Given the description of an element on the screen output the (x, y) to click on. 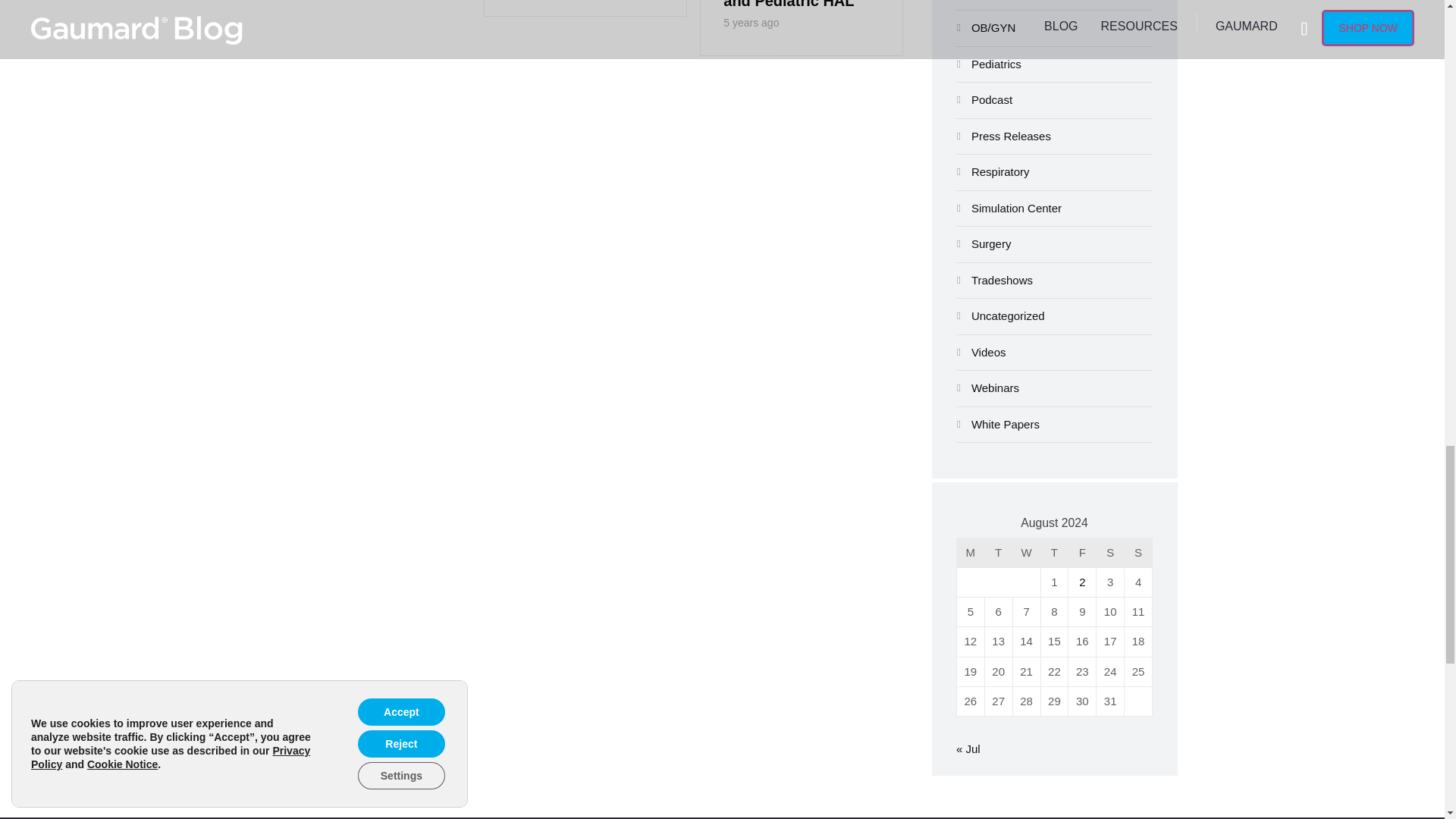
Wednesday (1027, 553)
Saturday (1110, 553)
Friday (1082, 553)
Tuesday (999, 553)
Sunday (1138, 553)
Thursday (1054, 553)
Monday (970, 553)
